Given the description of an element on the screen output the (x, y) to click on. 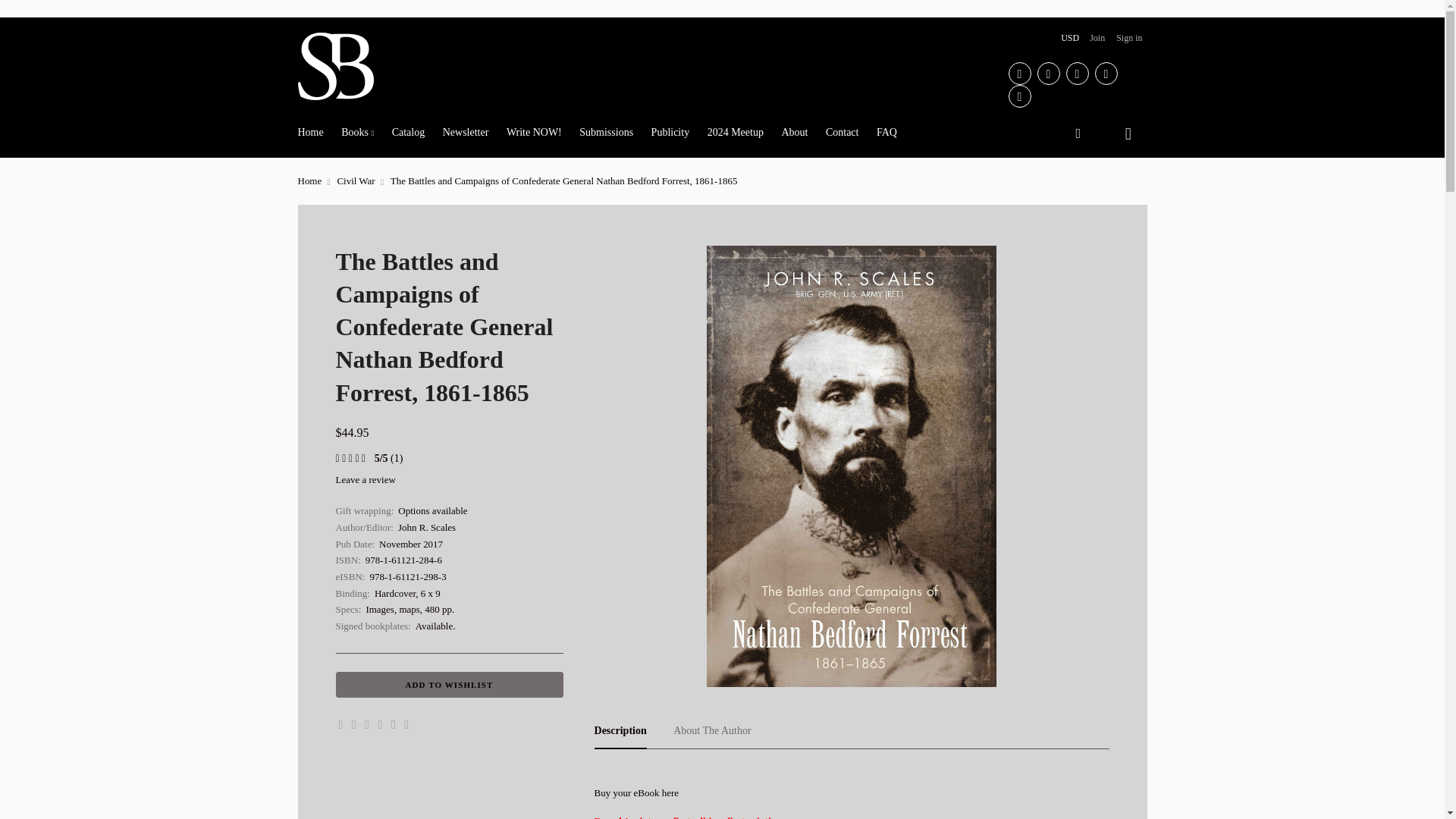
Sign in (1129, 38)
Instagram (1019, 96)
Facebook (1019, 73)
YouTube (1077, 73)
Instagram (1019, 96)
Books (357, 132)
Twitter (1106, 73)
Twitter (1106, 73)
View cart (1129, 132)
YouTube (1077, 73)
